Given the description of an element on the screen output the (x, y) to click on. 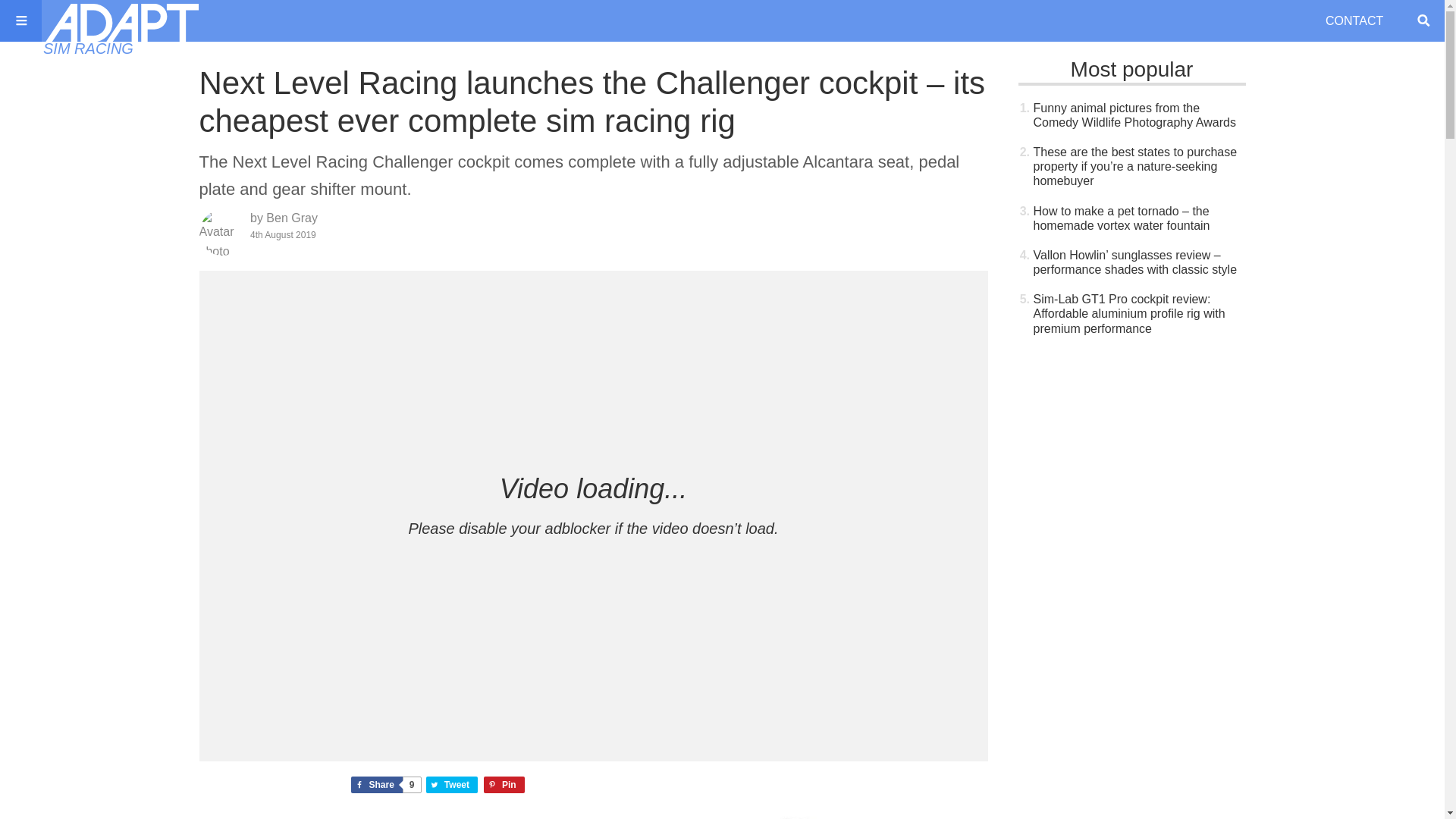
Pin (384, 784)
Tweet (503, 784)
SIM RACING (451, 784)
Search ADAPT Network (88, 48)
Toggle Menu (1423, 19)
CONTACT (21, 19)
Search ADAPT Network (1356, 20)
Share on Pinterest (1423, 19)
Share on Facebook (503, 784)
Ben Gray (384, 784)
Search (291, 217)
Toggle Menu (451, 784)
